Given the description of an element on the screen output the (x, y) to click on. 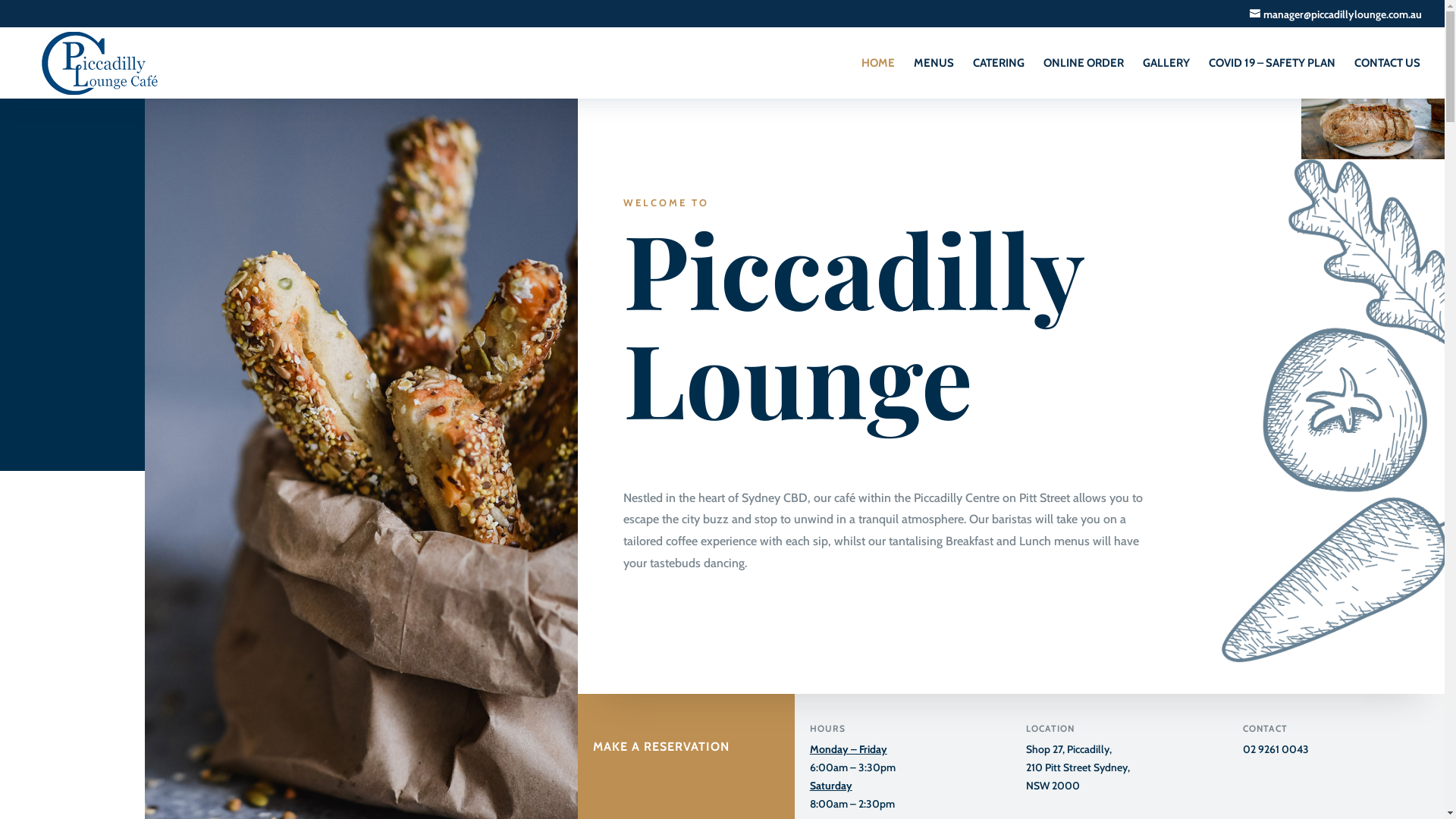
CATERING Element type: text (998, 77)
MENUS Element type: text (933, 77)
HOME Element type: text (877, 77)
CONTACT US Element type: text (1387, 77)
ONLINE ORDER Element type: text (1083, 77)
MAKE A RESERVATION Element type: text (660, 726)
02 9261 0043 Element type: text (1275, 749)
manager@piccadillylounge.com.au Element type: text (1335, 14)
GALLERY Element type: text (1165, 77)
